Given the description of an element on the screen output the (x, y) to click on. 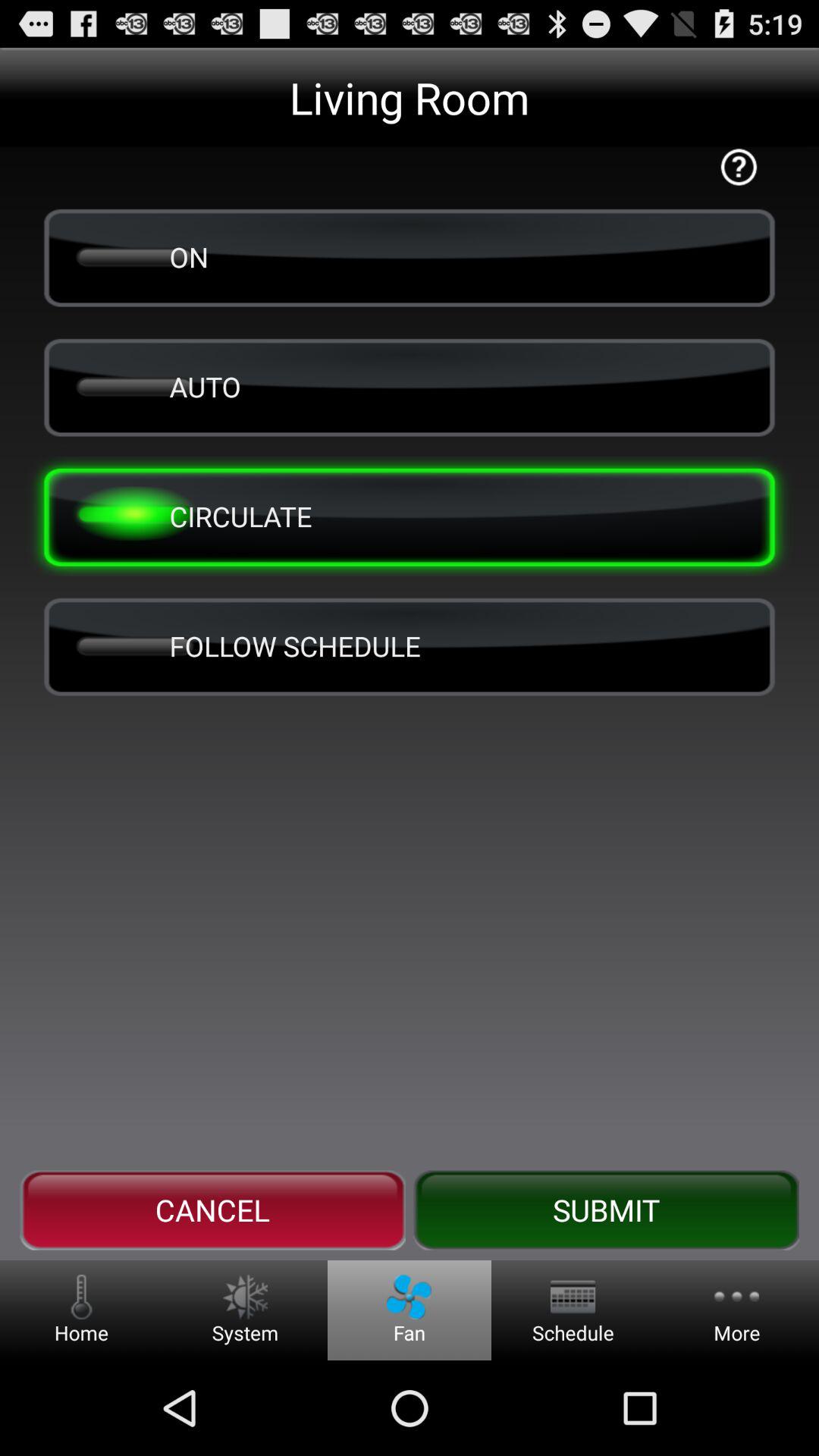
click cancel icon (212, 1210)
